Given the description of an element on the screen output the (x, y) to click on. 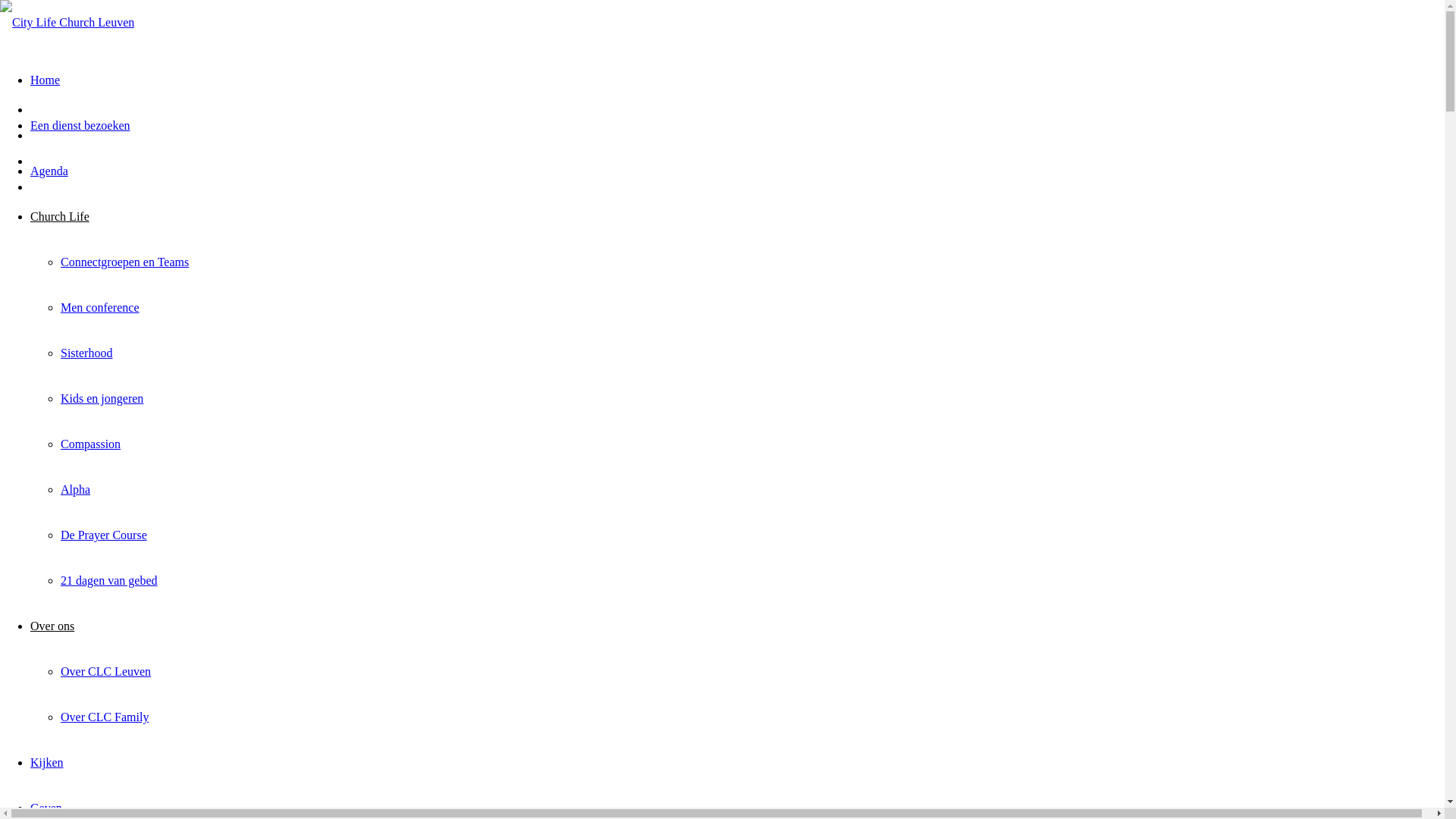
Alpha Element type: text (75, 489)
Connectgroepen en Teams Element type: text (124, 261)
Over CLC Leuven Element type: text (105, 671)
De Prayer Course Element type: text (103, 534)
Over ons Element type: text (52, 625)
Kijken Element type: text (46, 762)
Een dienst bezoeken Element type: text (80, 125)
Home Element type: text (44, 79)
Kids en jongeren Element type: text (101, 398)
CLC Leuven logo liggend zw Element type: hover (67, 21)
21 dagen van gebed Element type: text (108, 580)
Over CLC Family Element type: text (104, 716)
Sisterhood Element type: text (86, 352)
Compassion Element type: text (90, 443)
Church Life Element type: text (59, 216)
Geven Element type: text (46, 807)
Men conference Element type: text (99, 307)
CLC Leuven logo liggend zw Element type: hover (67, 22)
Agenda Element type: text (49, 170)
